Given the description of an element on the screen output the (x, y) to click on. 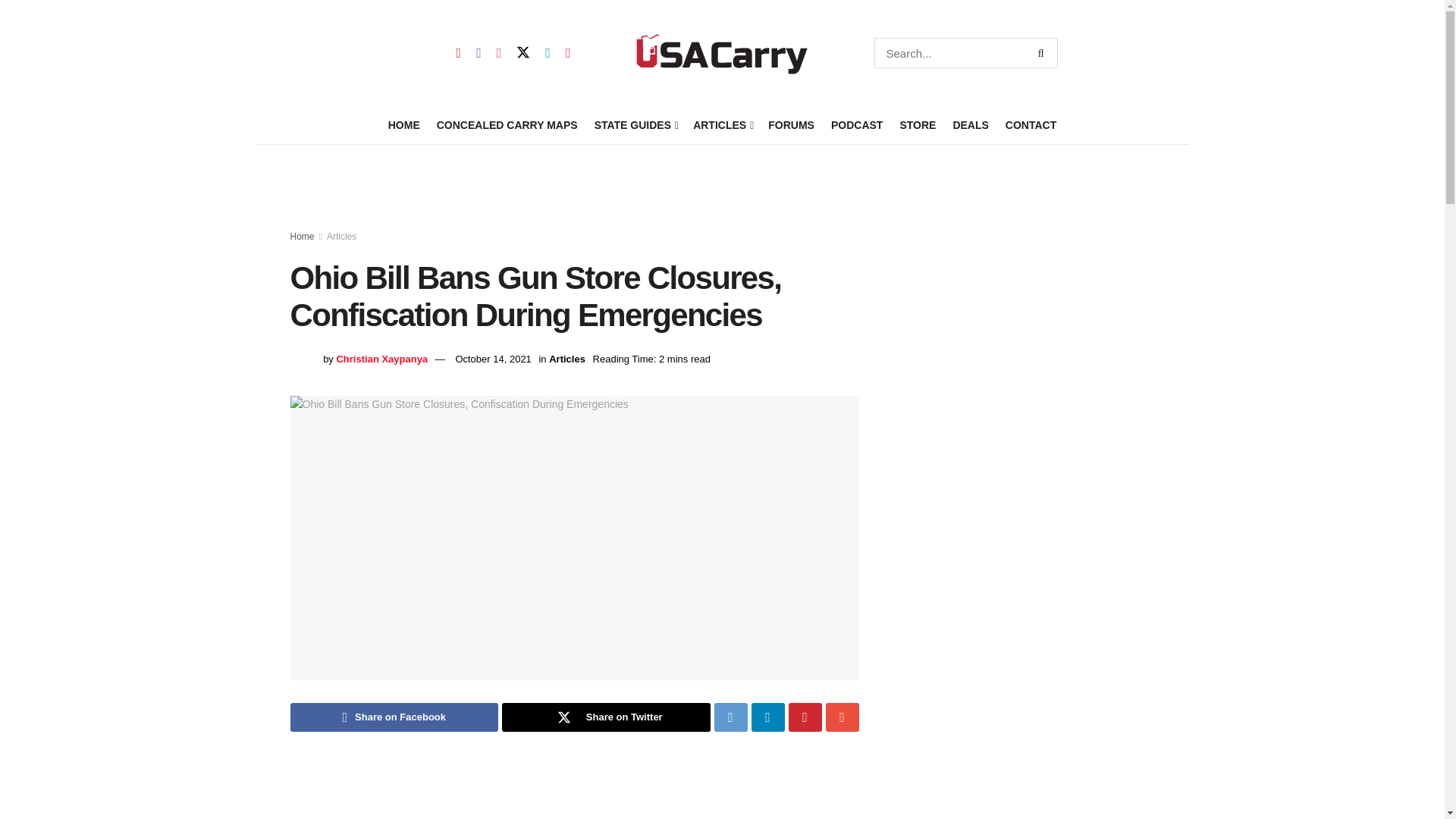
HOME (404, 124)
CONCEALED CARRY MAPS (507, 124)
State Concealed Carry Guides (635, 124)
STATE GUIDES (635, 124)
